Given the description of an element on the screen output the (x, y) to click on. 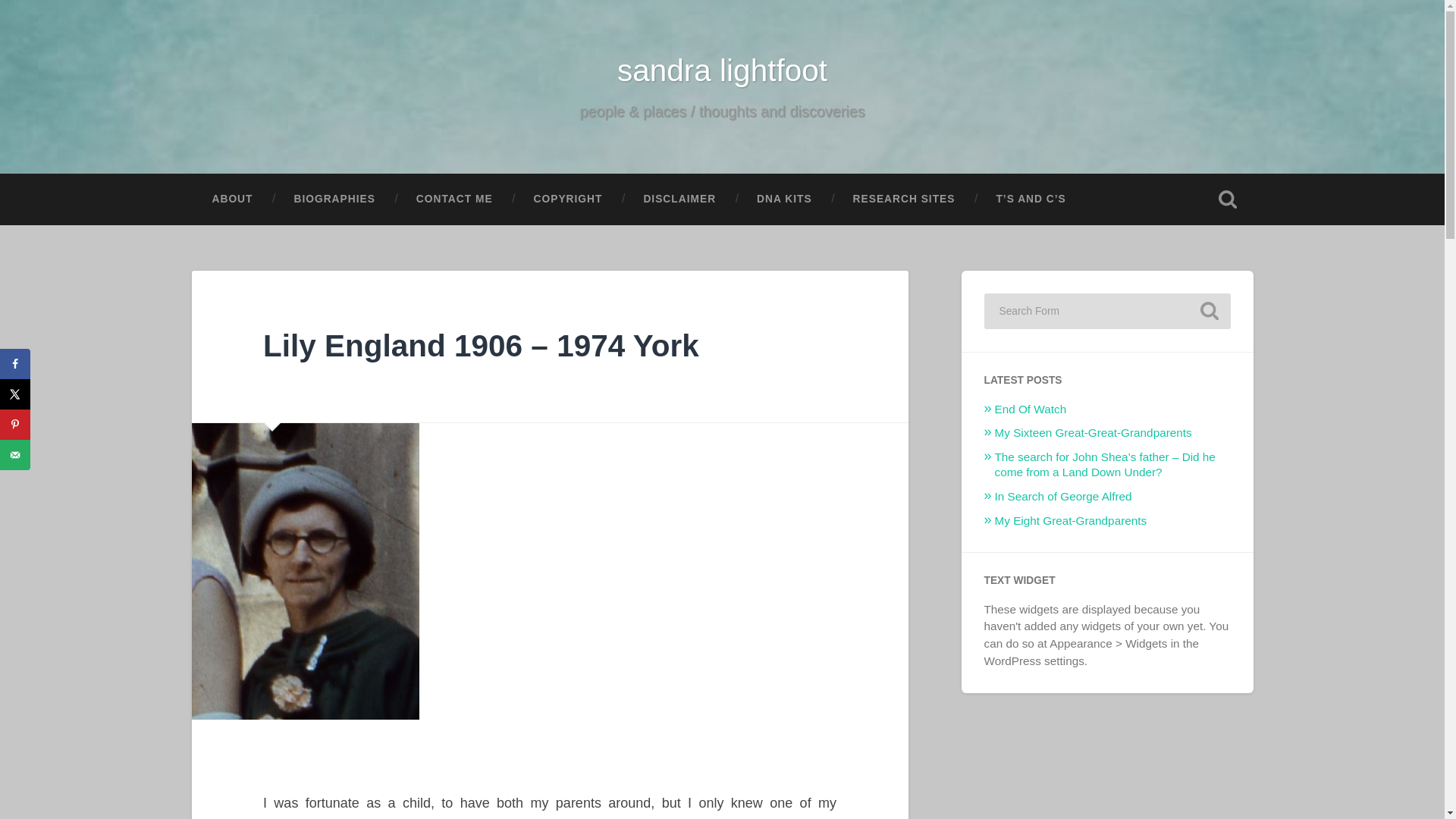
ABOUT (231, 199)
Search (1209, 310)
BIOGRAPHIES (333, 199)
COPYRIGHT (568, 199)
Send over email (15, 454)
Share on X (15, 394)
In Search of George Alfred (1063, 495)
My Eight Great-Grandparents (1070, 520)
Search (1209, 310)
DISCLAIMER (679, 199)
End Of Watch (1030, 408)
Share on Facebook (15, 363)
Search (1209, 310)
My Sixteen Great-Great-Grandparents (1093, 431)
RESEARCH SITES (903, 199)
